Given the description of an element on the screen output the (x, y) to click on. 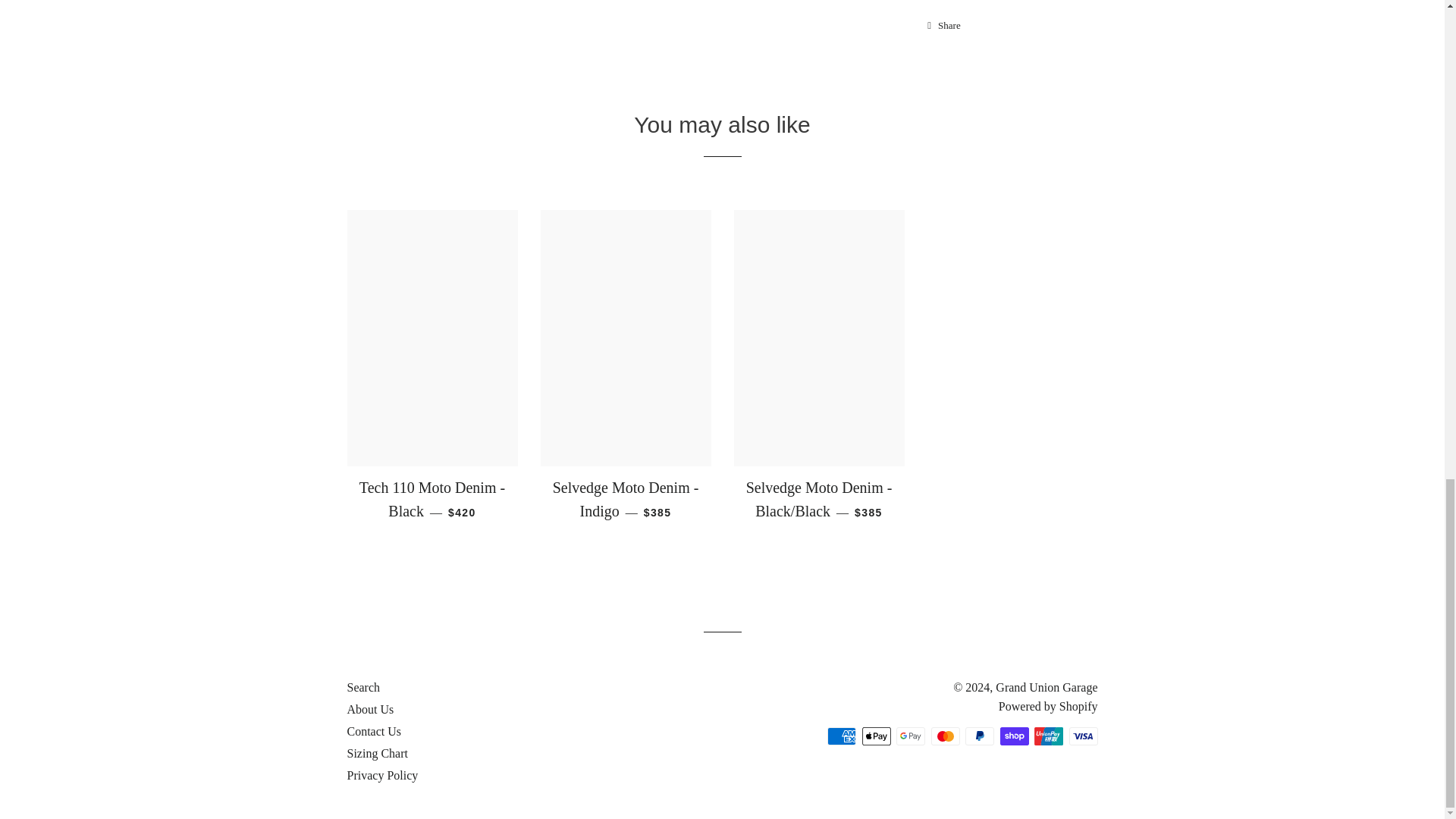
Visa (1082, 736)
Shop Pay (1012, 736)
Share on Facebook (944, 25)
Mastercard (945, 736)
American Express (841, 736)
PayPal (979, 736)
Google Pay (910, 736)
Apple Pay (875, 736)
Union Pay (1047, 736)
